Given the description of an element on the screen output the (x, y) to click on. 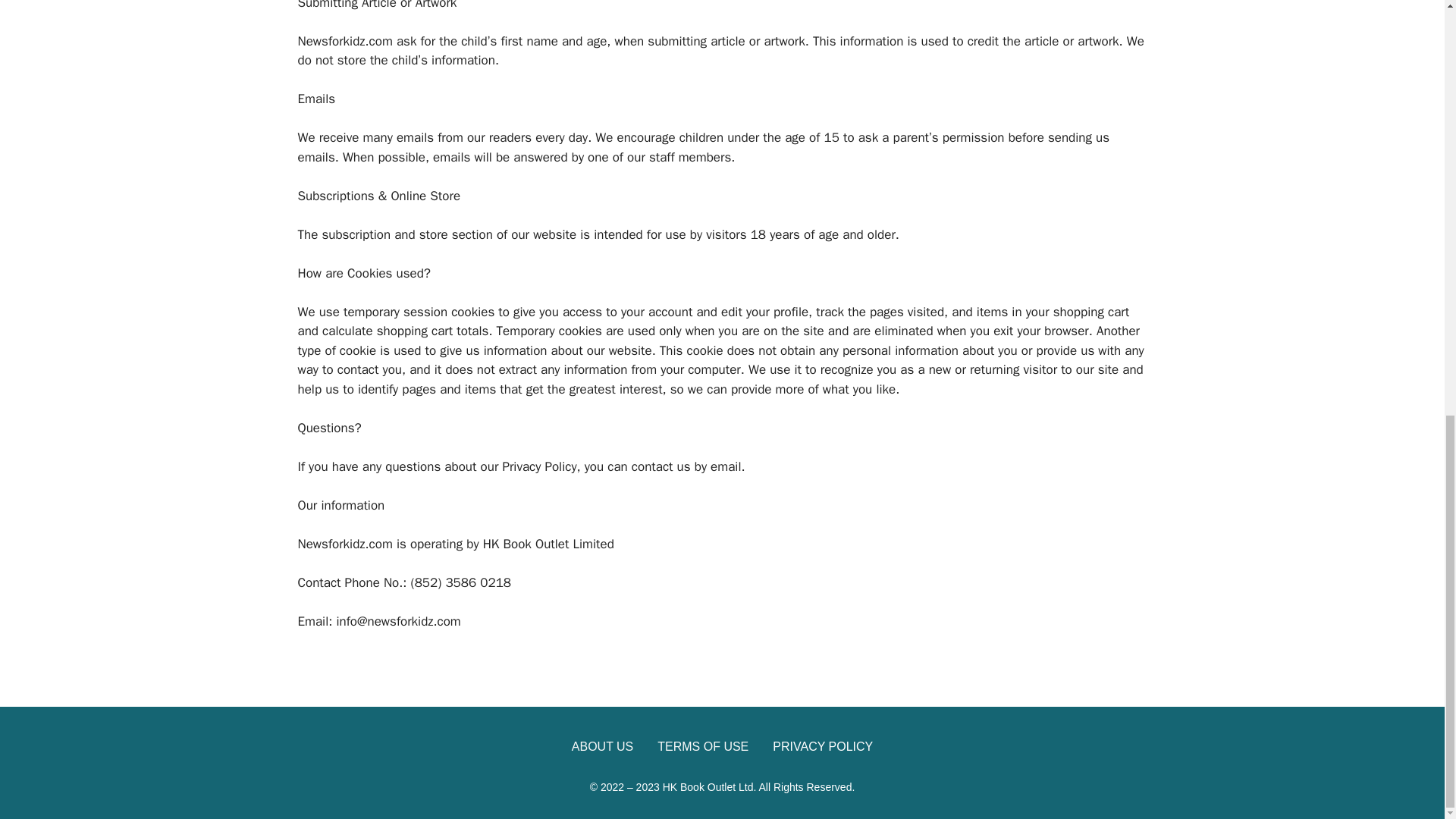
PRIVACY POLICY (822, 746)
TERMS OF USE (702, 746)
ABOUT US (602, 746)
